Given the description of an element on the screen output the (x, y) to click on. 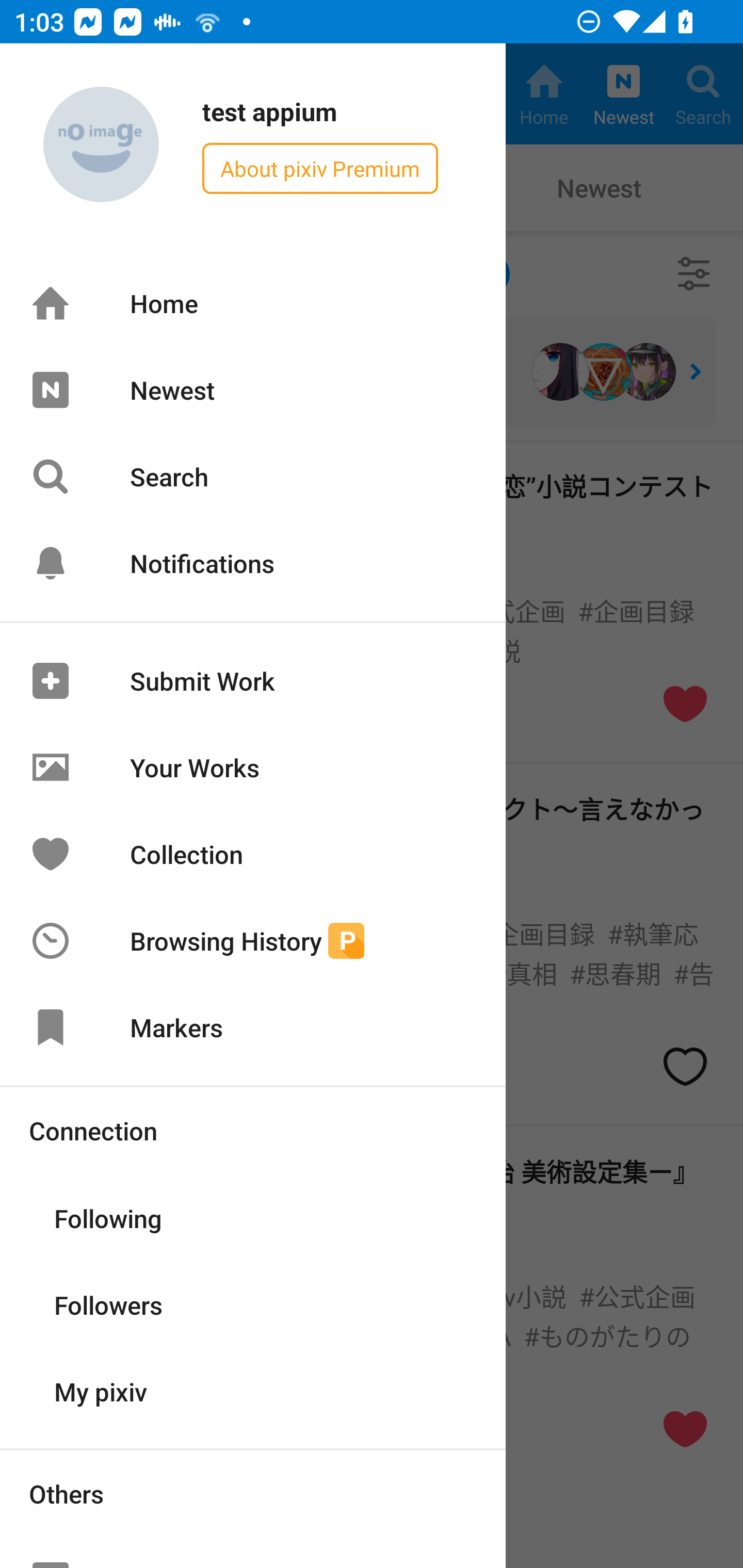
test appium About pixiv Premium (252, 144)
About pixiv Premium (320, 168)
Home (252, 303)
Newest (252, 389)
Search (252, 476)
Notifications (252, 563)
Submit Work (252, 681)
Your Works (252, 767)
Collection (252, 853)
Browsing History [P] (252, 940)
Markers (252, 1027)
　Following (252, 1217)
　Followers (252, 1303)
　My pixiv (252, 1389)
